Given the description of an element on the screen output the (x, y) to click on. 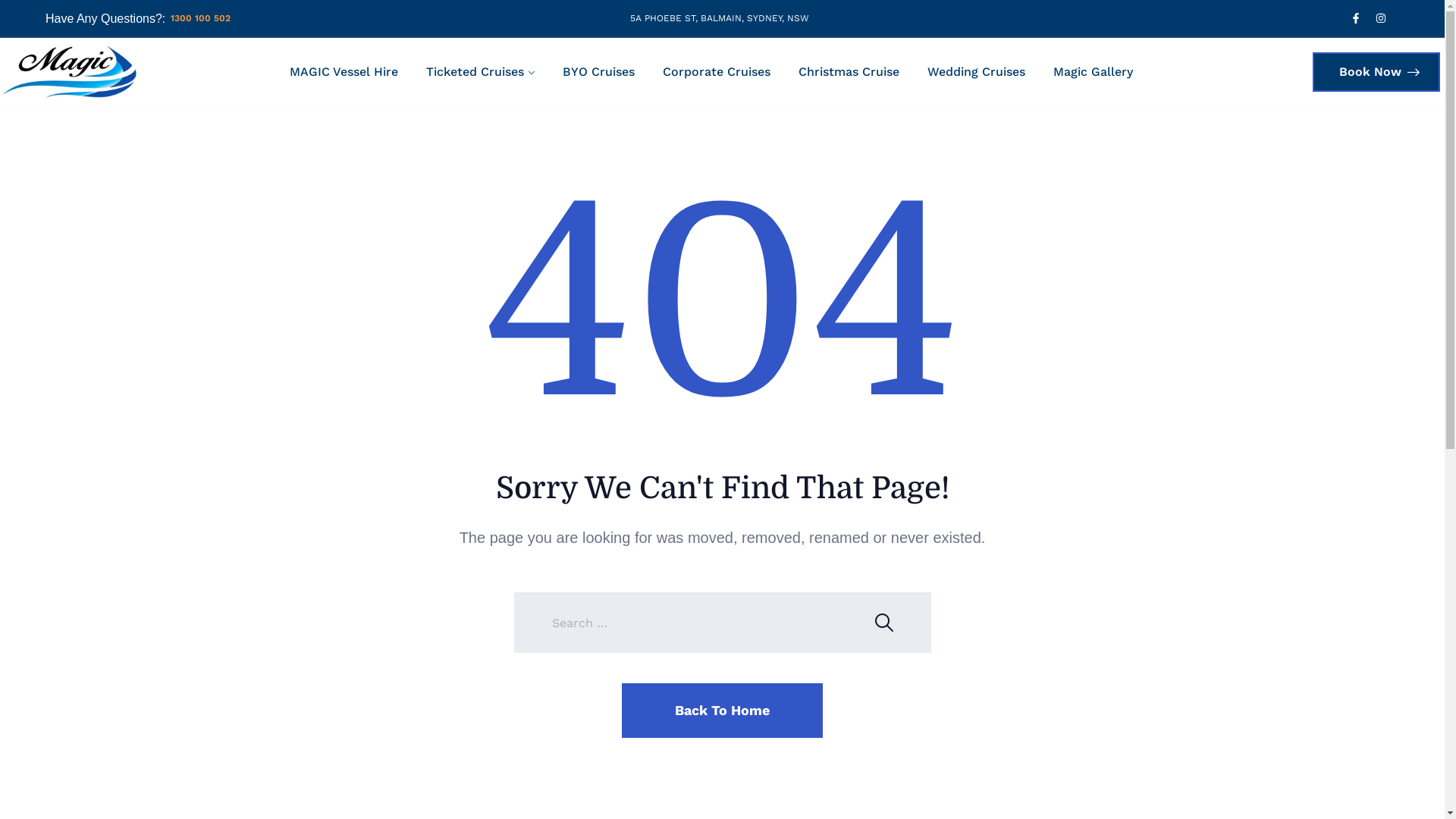
1300 100 502 Element type: text (200, 18)
BYO Cruises Element type: text (598, 72)
Corporate Cruises Element type: text (716, 72)
MAGIC Vessel Hire Element type: text (343, 72)
Search Element type: text (889, 626)
Book Now Element type: text (1376, 71)
Christmas Cruise Element type: text (848, 72)
Magic Gallery Element type: text (1086, 72)
Ticketed Cruises Element type: text (480, 72)
Back To Home Element type: text (721, 710)
Wedding Cruises Element type: text (976, 72)
